Given the description of an element on the screen output the (x, y) to click on. 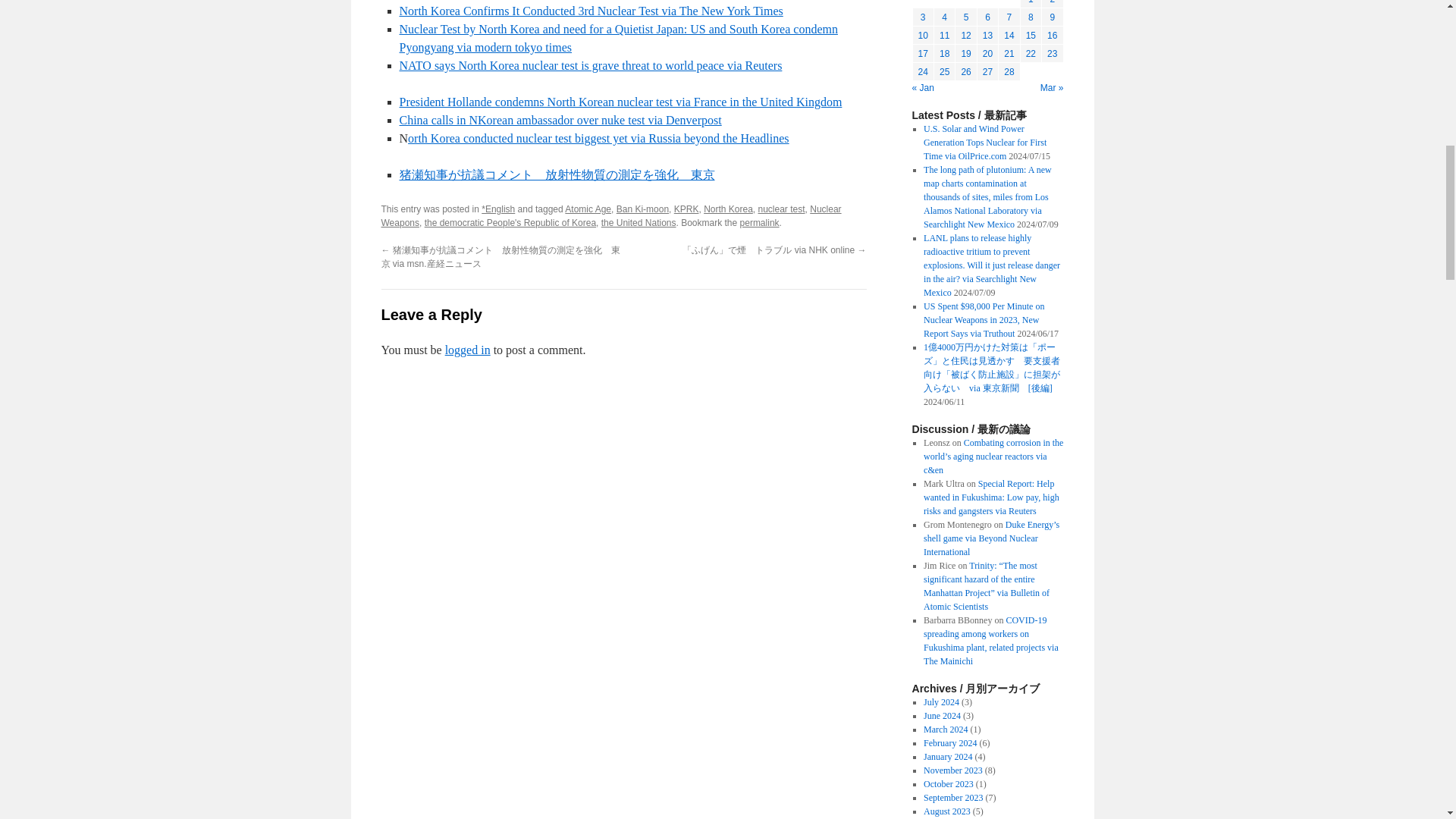
Ban Ki-moon (641, 208)
Atomic Age (587, 208)
